Given the description of an element on the screen output the (x, y) to click on. 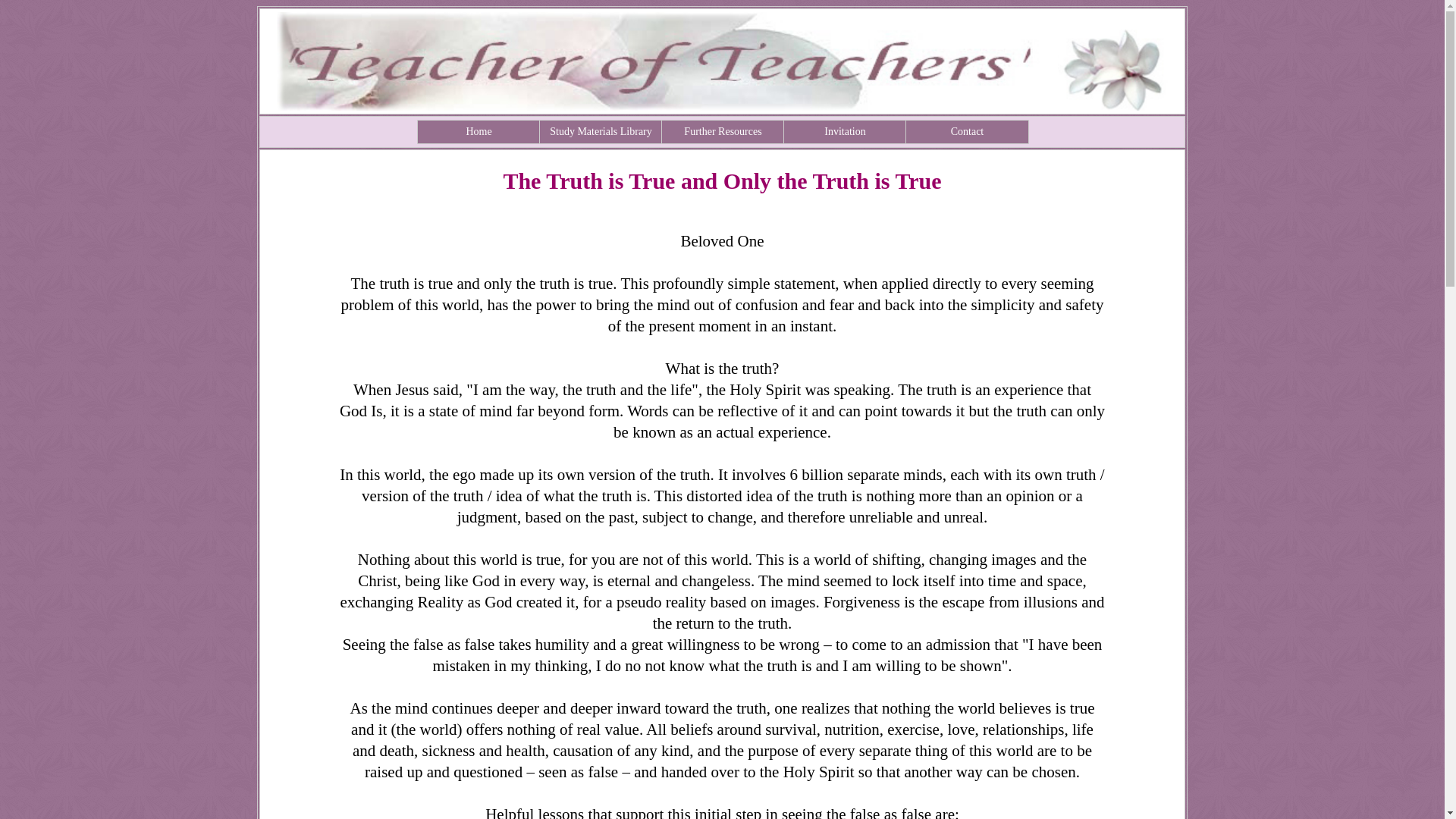
Home (478, 131)
Further Resources (723, 131)
Study Materials Library (601, 131)
